Given the description of an element on the screen output the (x, y) to click on. 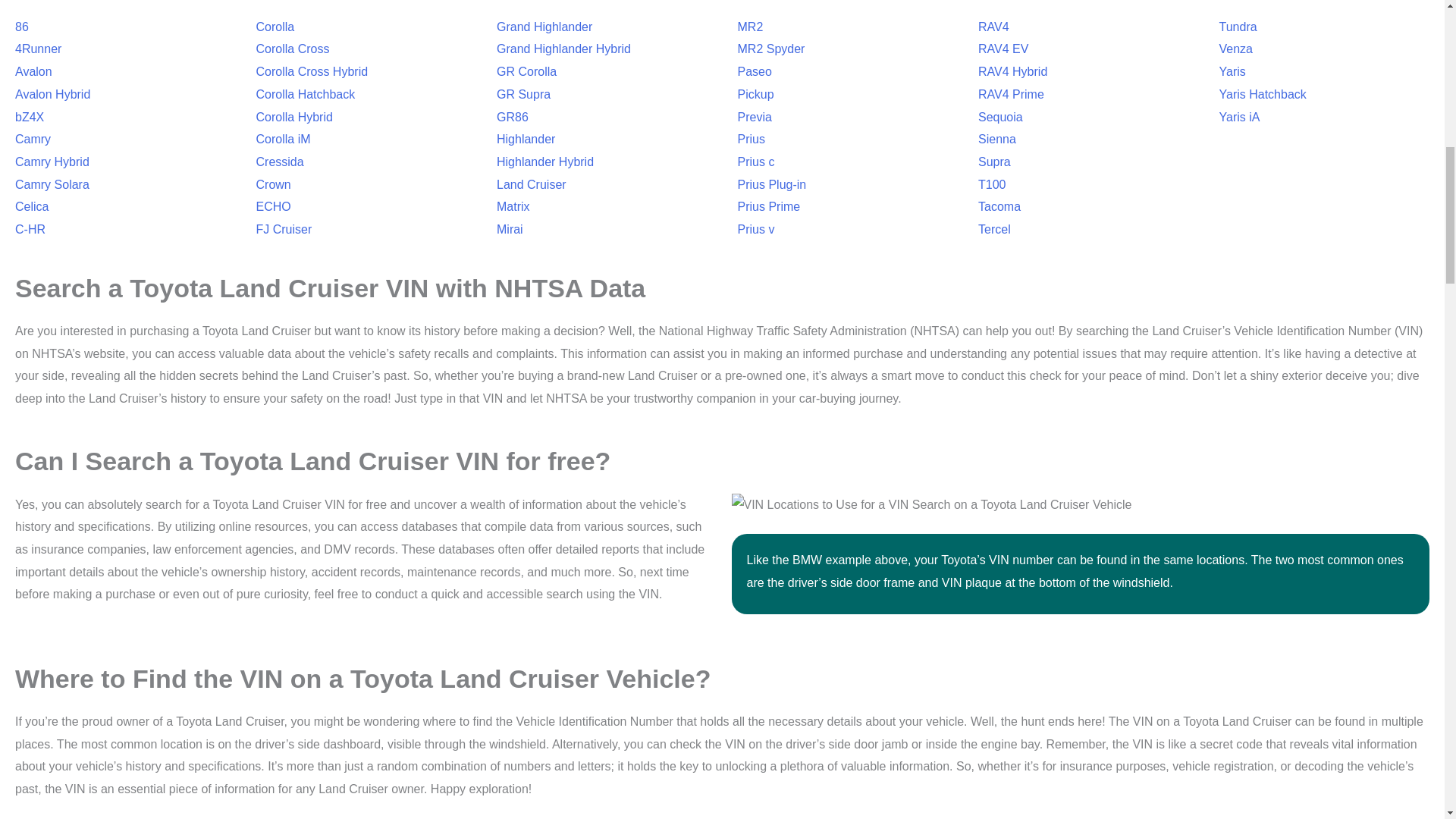
Avalon (33, 71)
86 (21, 26)
Camry Hybrid (51, 161)
Corolla Hybrid (294, 116)
4Runner (37, 48)
Camry (32, 138)
Avalon Hybrid (52, 93)
Corolla Cross Hybrid (312, 71)
Celica (31, 205)
bZ4X (28, 116)
